Given the description of an element on the screen output the (x, y) to click on. 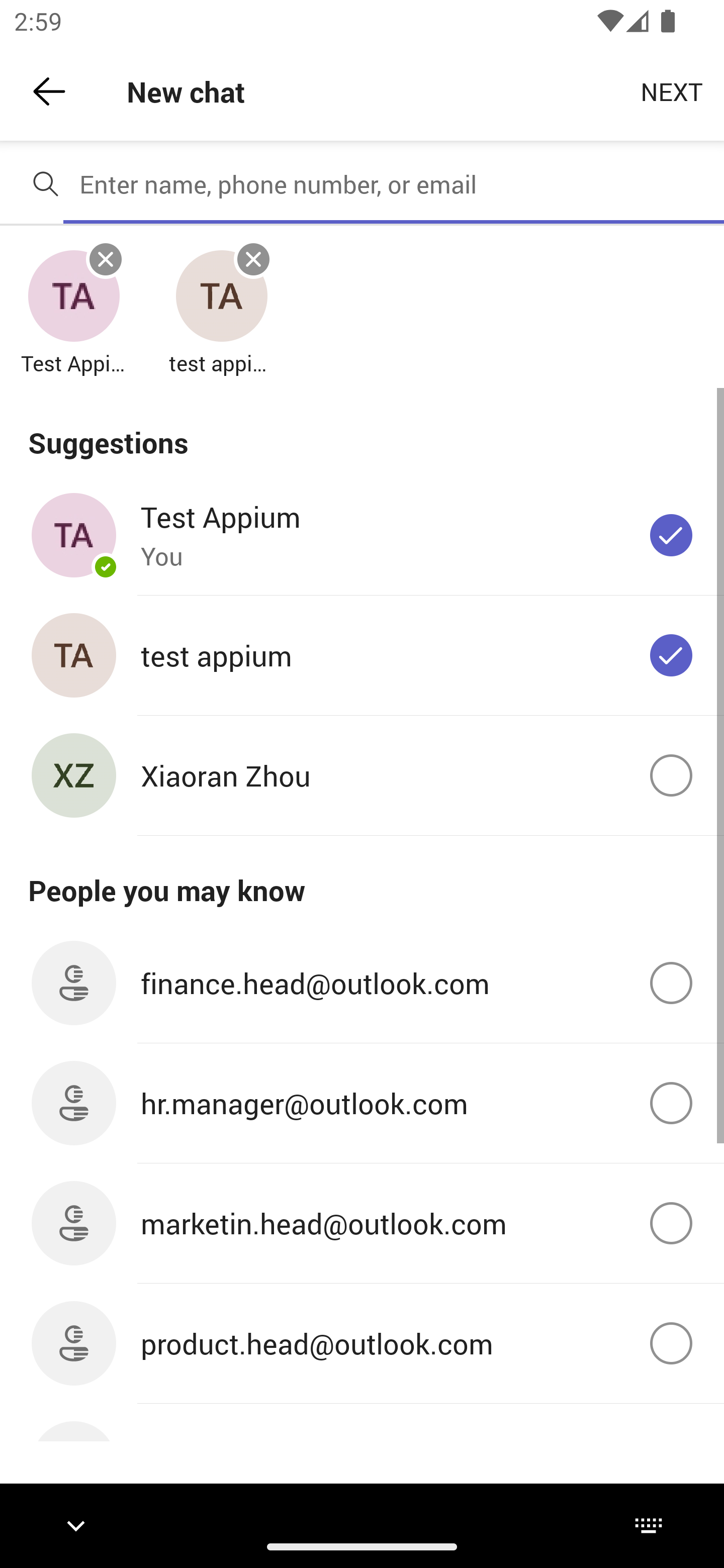
Back (49, 91)
NEXT (671, 90)
Enter name, phone number, or email (393, 184)
Remove (105, 259)
Remove (252, 259)
Test Appium profile picture (73, 295)
test appium profile picture (221, 295)
Suggestions section header Suggestions (362, 431)
